Given the description of an element on the screen output the (x, y) to click on. 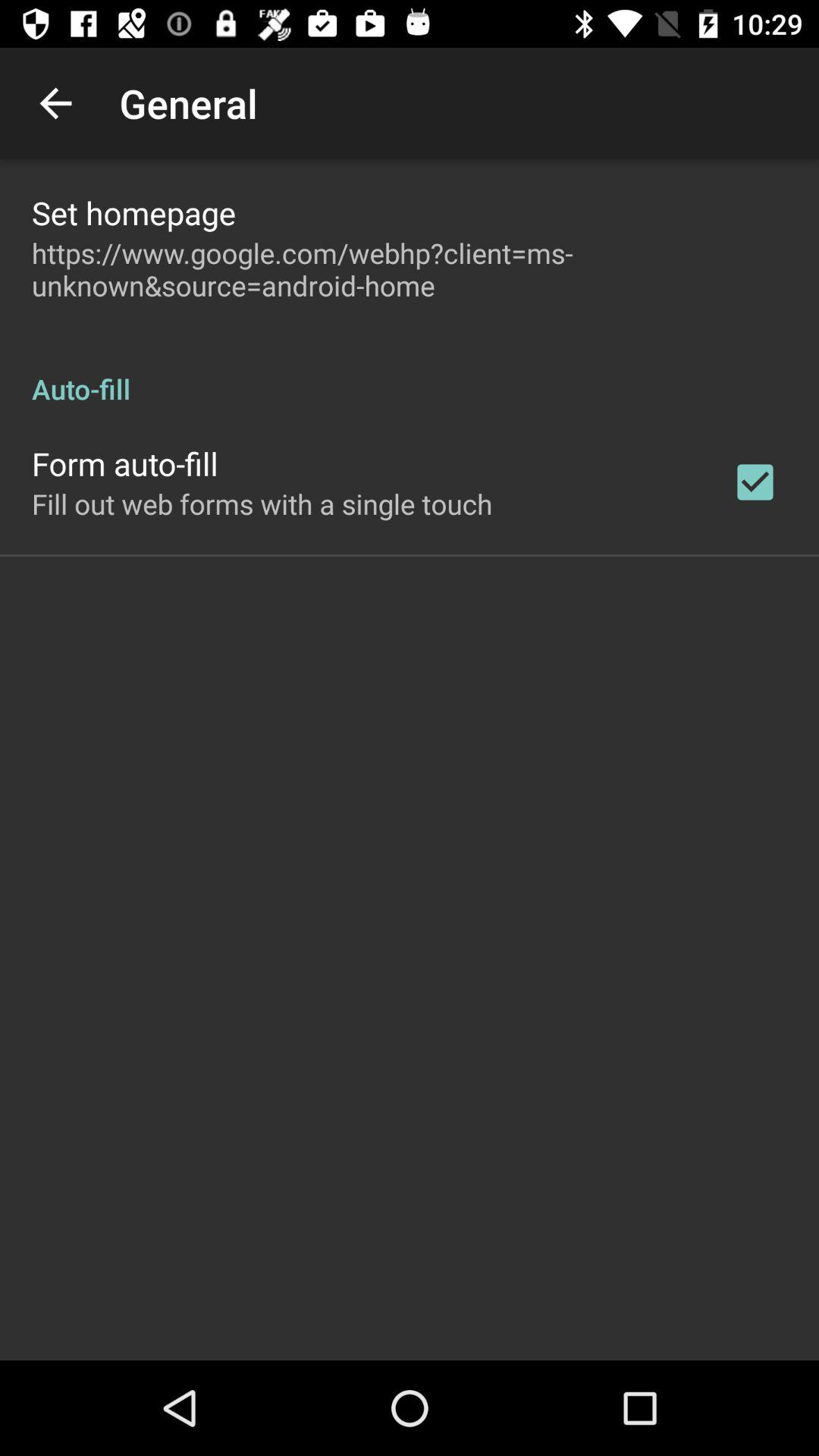
press item next to fill out web item (755, 482)
